Given the description of an element on the screen output the (x, y) to click on. 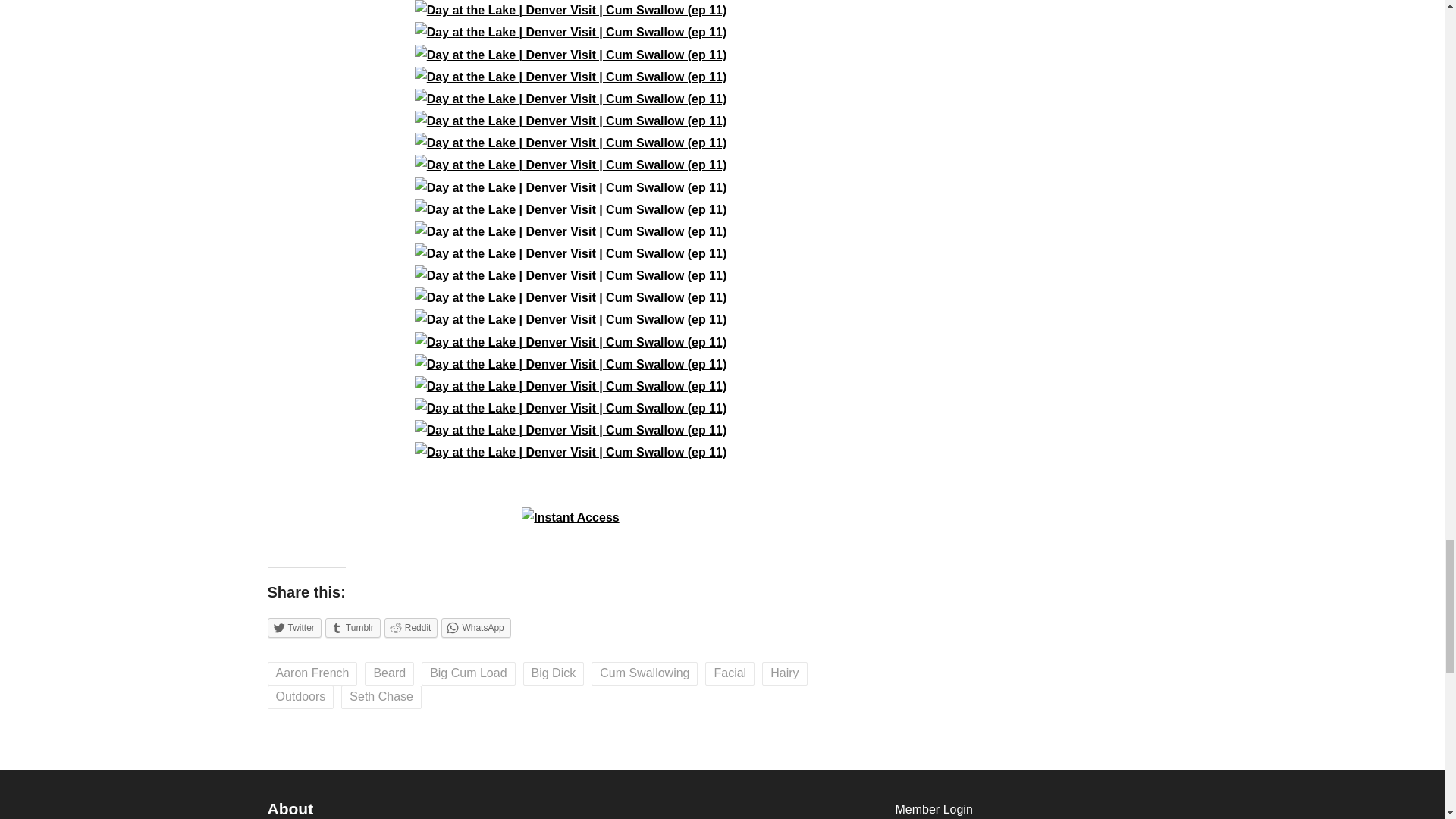
Cum Swallowing (644, 673)
Seth Chase (381, 697)
WhatsApp (476, 628)
Twitter (293, 628)
Beard (389, 673)
Outdoors (299, 697)
Big Dick (553, 673)
Click to share on Twitter (293, 628)
Click to share on WhatsApp (476, 628)
Click to share on Tumblr (352, 628)
